Given the description of an element on the screen output the (x, y) to click on. 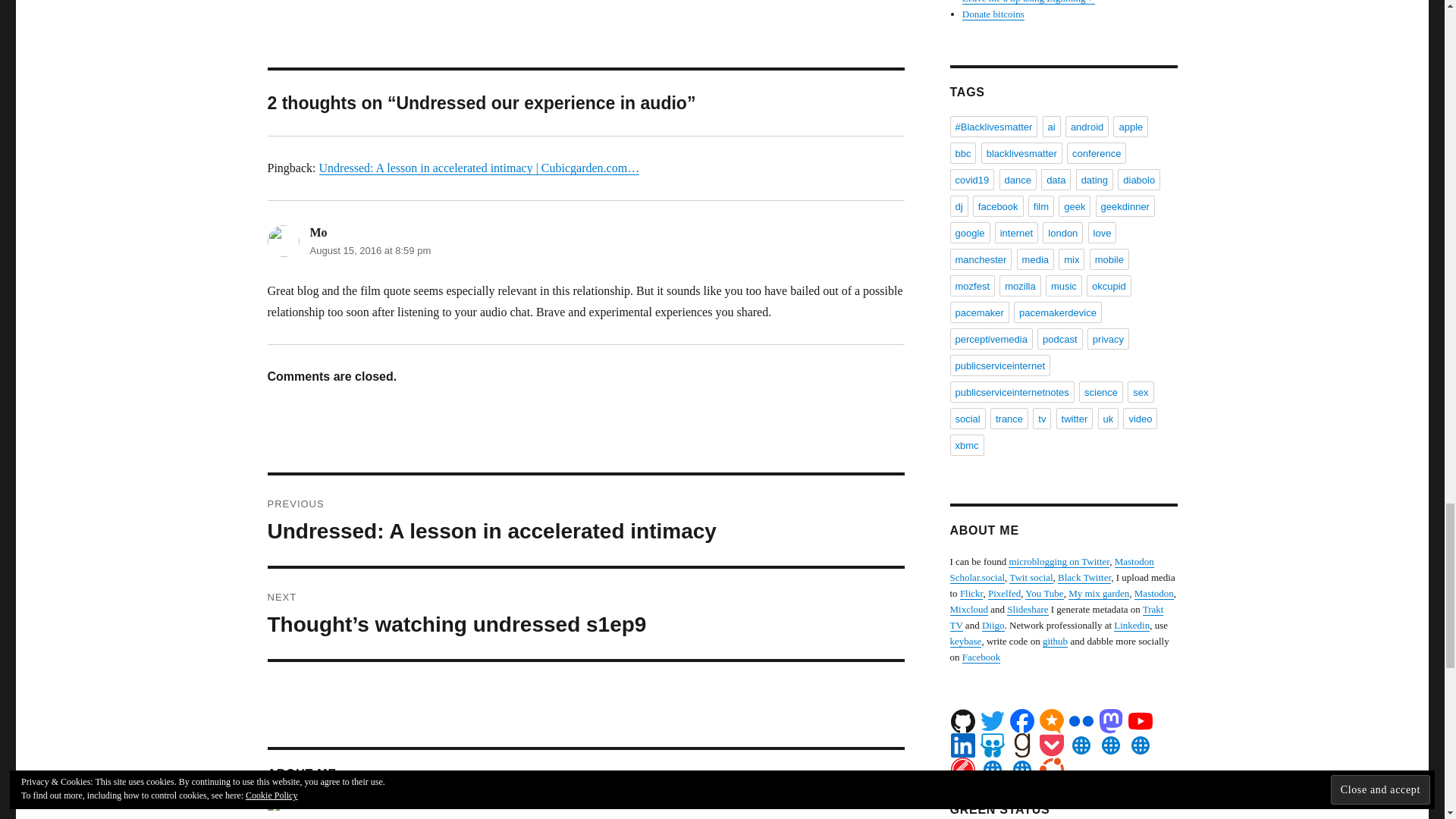
August 15, 2016 at 8:59 pm (369, 250)
Twitter (991, 721)
GitHub (962, 721)
